Given the description of an element on the screen output the (x, y) to click on. 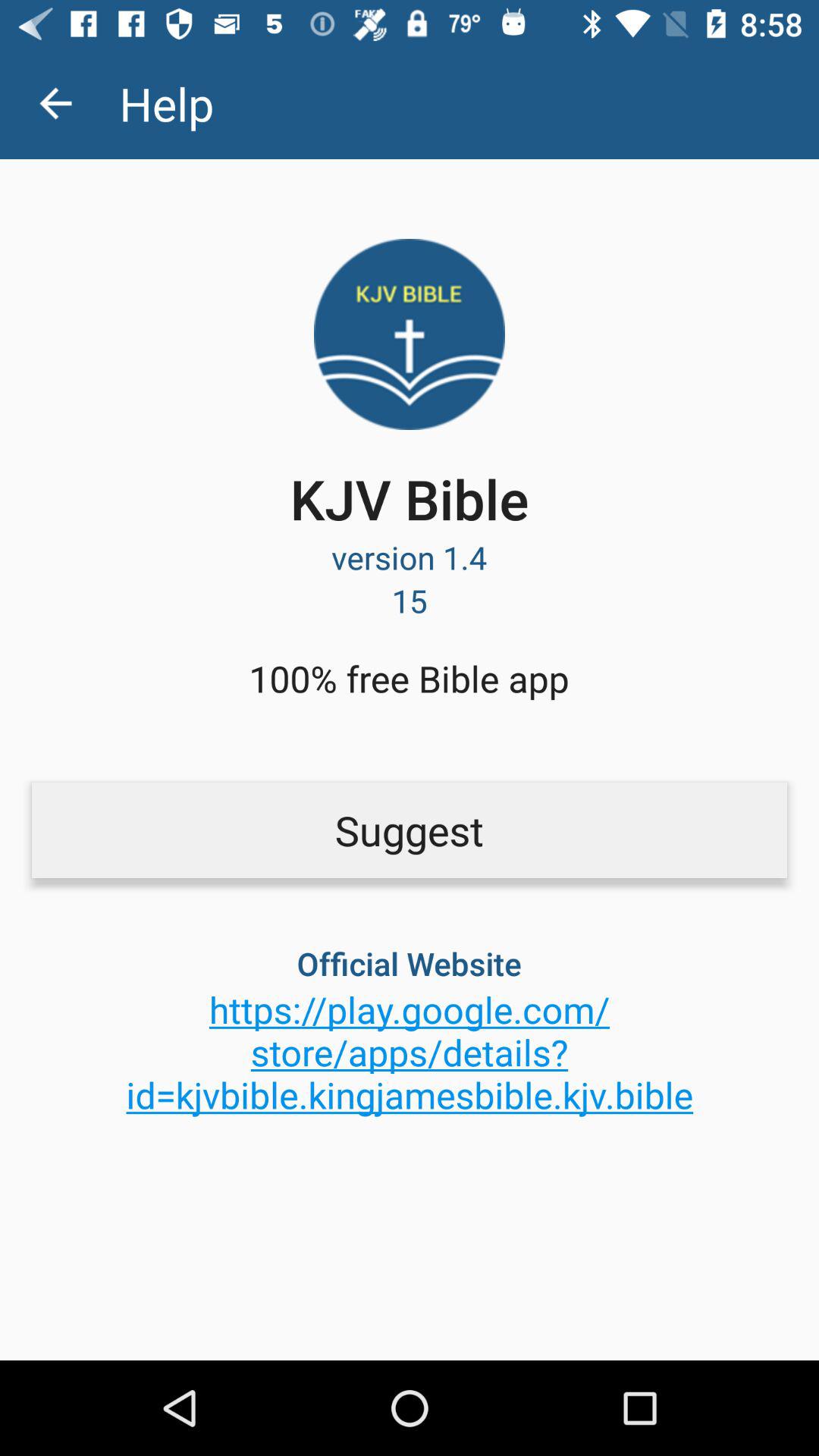
click item below 15 (409, 678)
